Given the description of an element on the screen output the (x, y) to click on. 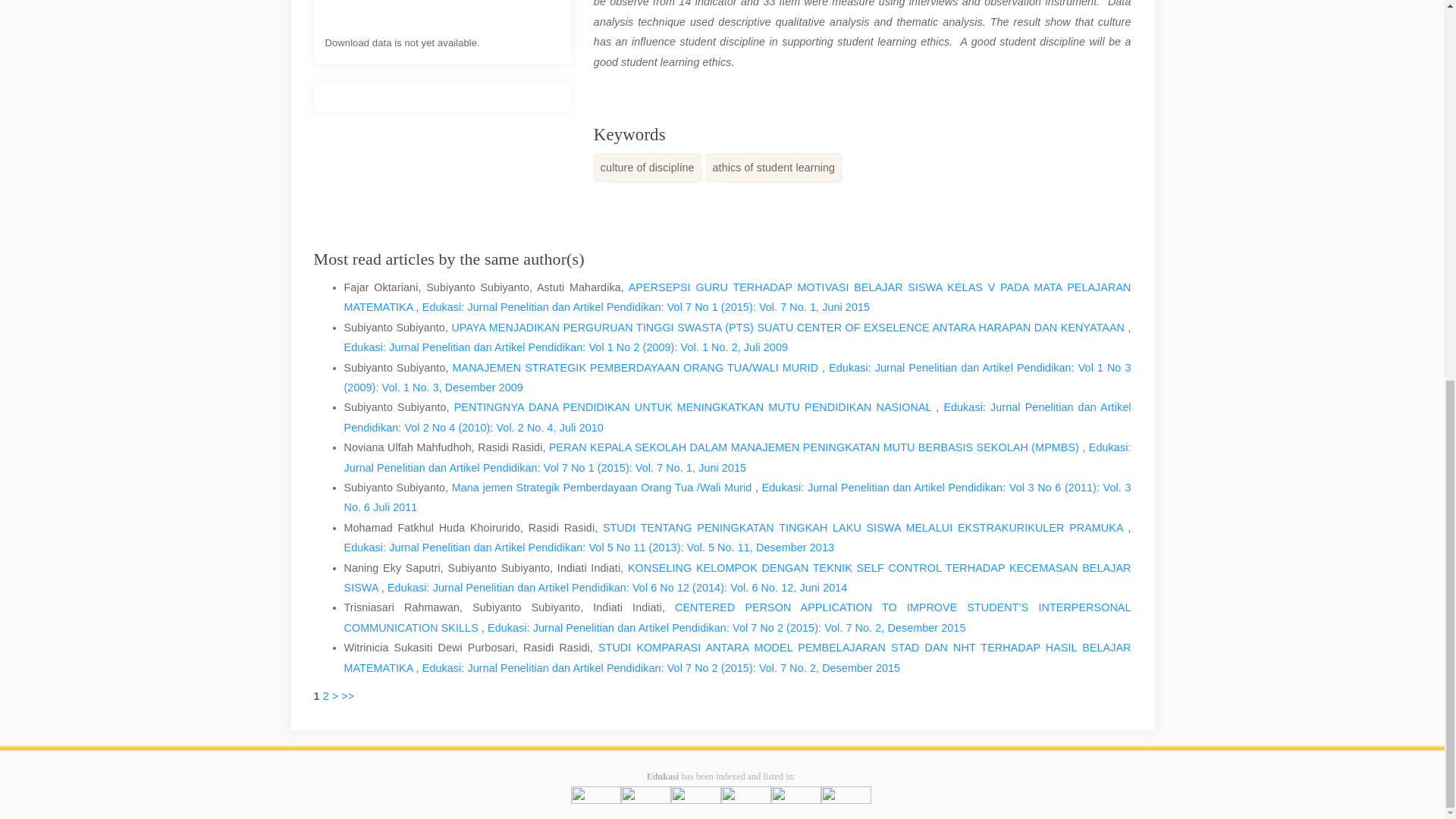
Google Scholar (845, 801)
DOAJ (646, 801)
Garuda Ristek DIKTI (745, 801)
SINTA (595, 801)
